Given the description of an element on the screen output the (x, y) to click on. 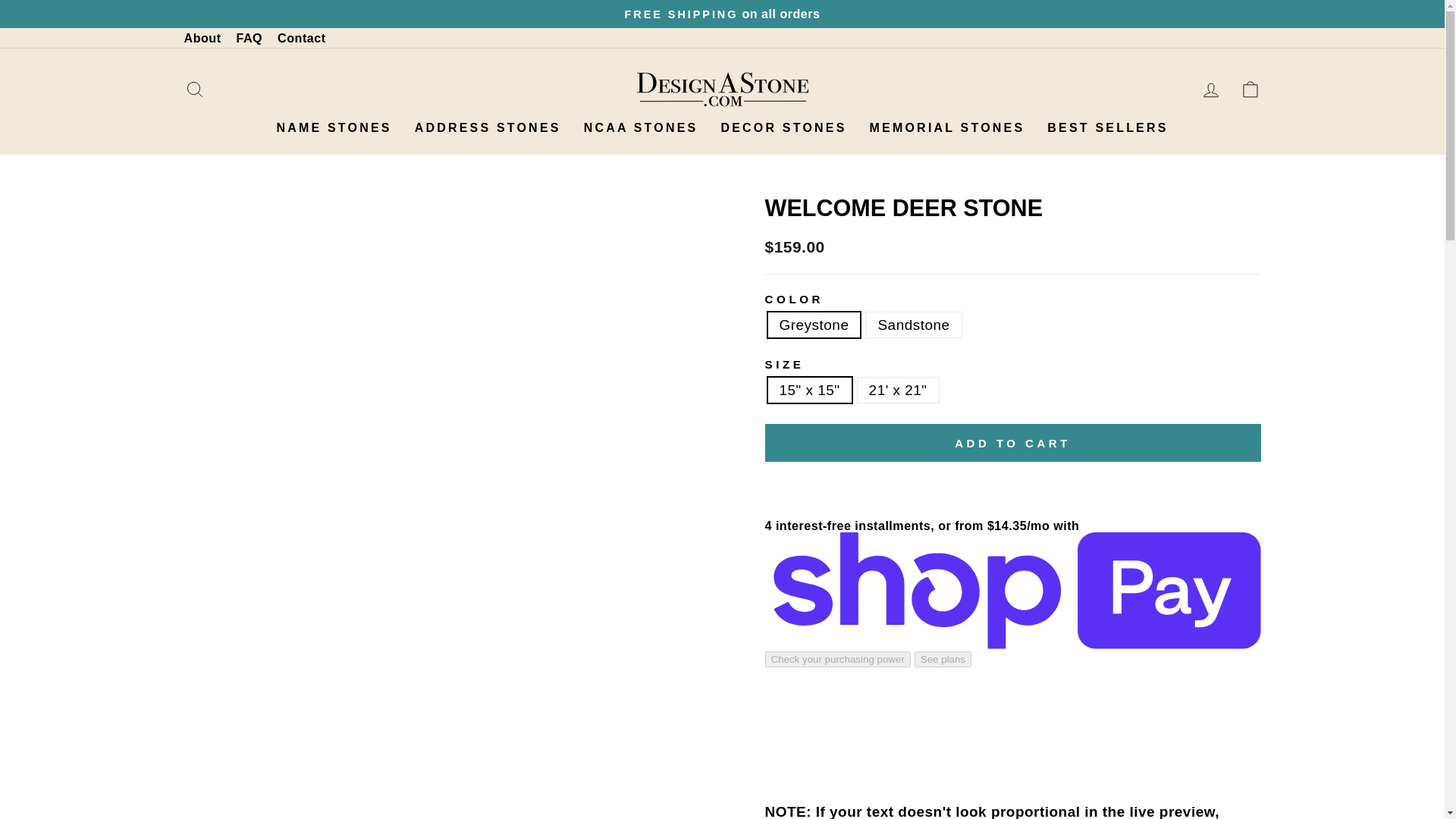
DECOR STONES (783, 127)
CART (1249, 89)
NCAA STONES (641, 127)
NAME STONES (333, 127)
About (202, 37)
FAQ (248, 37)
ADDRESS STONES (487, 127)
LOG IN (1210, 89)
SEARCH (194, 89)
Contact (301, 37)
